Given the description of an element on the screen output the (x, y) to click on. 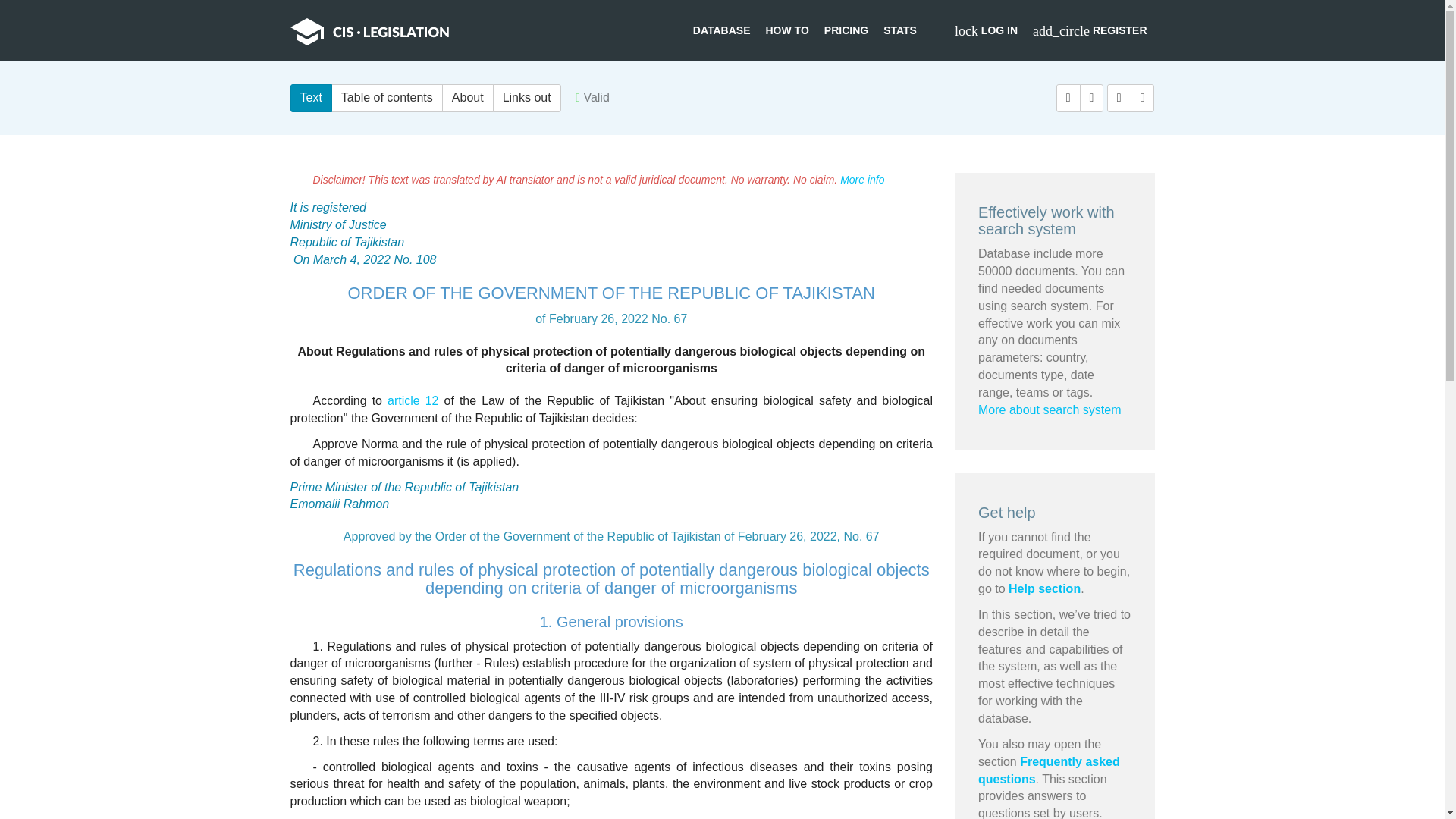
Help section (1044, 588)
DATABASE (721, 30)
HOW TO (787, 30)
More info (861, 179)
About (467, 98)
article 12 (413, 400)
Table of contents (386, 98)
Frequently asked questions (1048, 770)
Links out (526, 98)
Text (310, 98)
More information about docs translate (861, 179)
More about search system (1049, 409)
lock LOG IN (986, 30)
PRICING (846, 30)
STATS (900, 30)
